Given the description of an element on the screen output the (x, y) to click on. 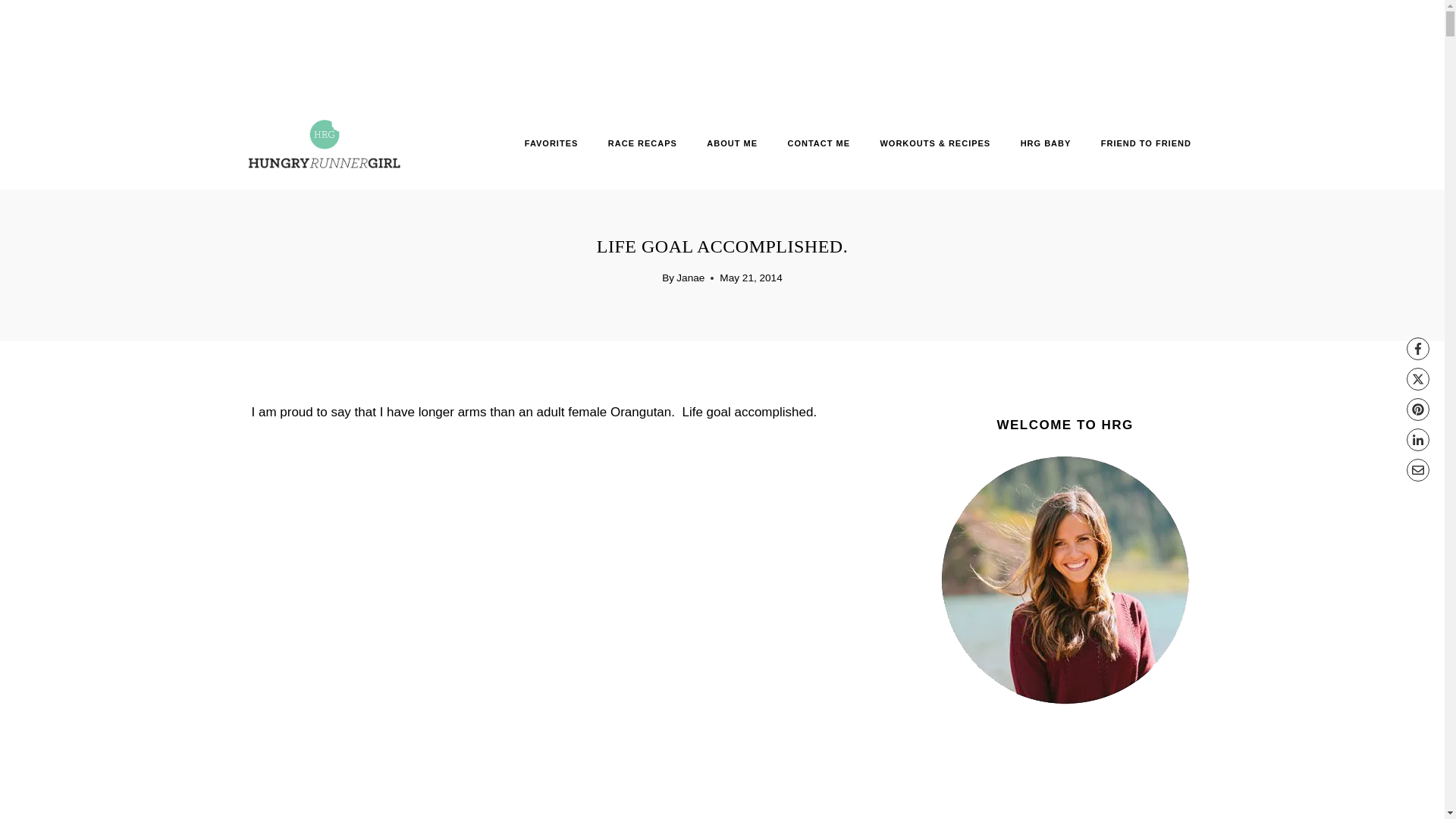
ABOUT ME (731, 143)
CONTACT ME (819, 143)
Janae (690, 277)
FRIEND TO FRIEND (1145, 143)
FAVORITES (551, 143)
RACE RECAPS (641, 143)
HRG BABY (1044, 143)
